Given the description of an element on the screen output the (x, y) to click on. 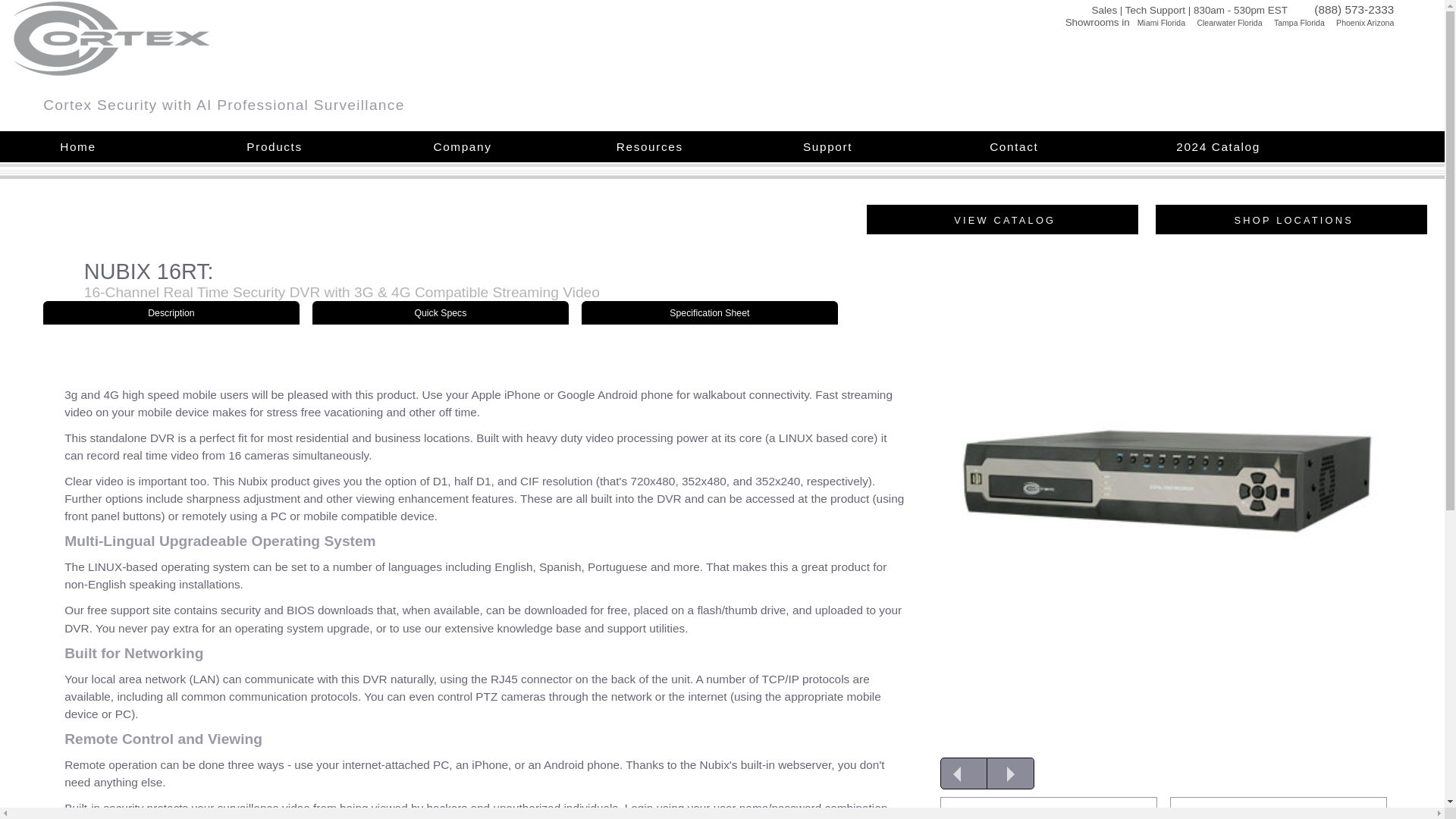
Home (77, 146)
Tampa Florida (1296, 20)
Clearwater Florida (1225, 20)
Miami Florida (1157, 20)
Products (276, 146)
Phoenix Arizona (1360, 20)
Company (465, 146)
